Given the description of an element on the screen output the (x, y) to click on. 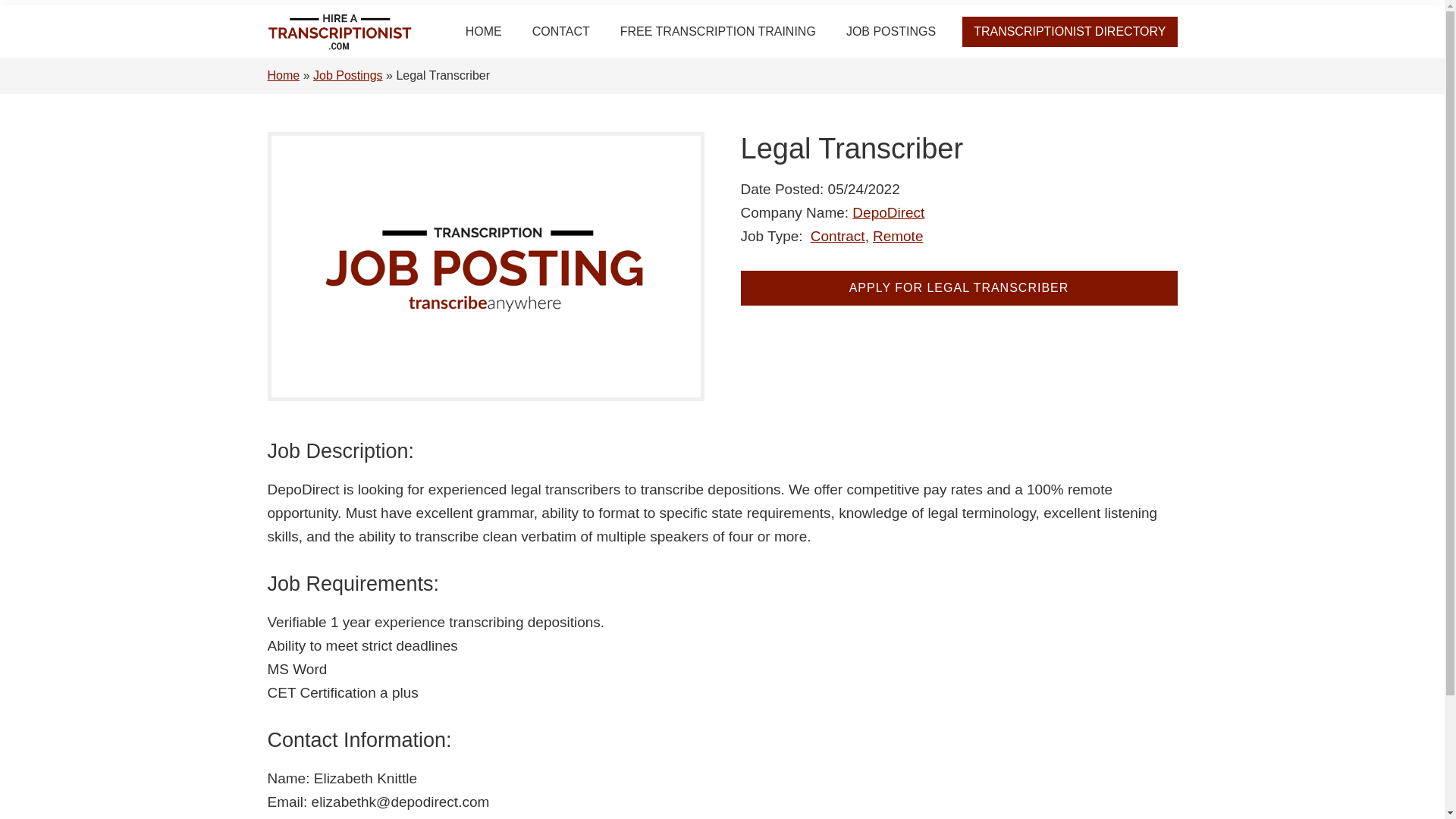
HOME (482, 31)
JOB POSTINGS (890, 31)
Job Postings (347, 74)
Remote (897, 235)
Home (282, 74)
APPLY FOR LEGAL TRANSCRIBER (957, 288)
CONTACT (560, 31)
FREE TRANSCRIPTION TRAINING (718, 31)
DepoDirect (887, 212)
Contract (839, 235)
TRANSCRIPTIONIST DIRECTORY (1069, 31)
